Given the description of an element on the screen output the (x, y) to click on. 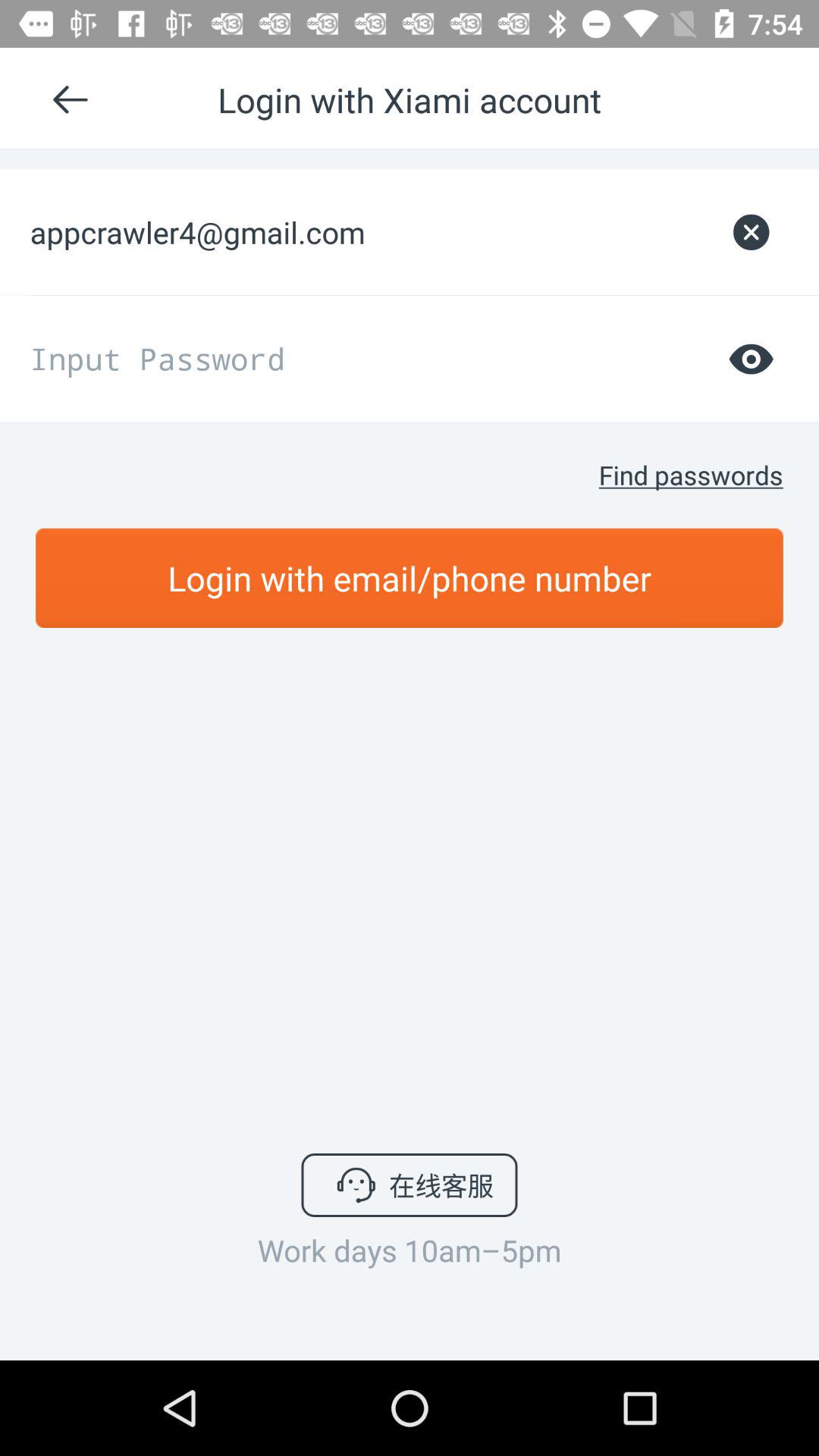
press the find passwords item (690, 474)
